Given the description of an element on the screen output the (x, y) to click on. 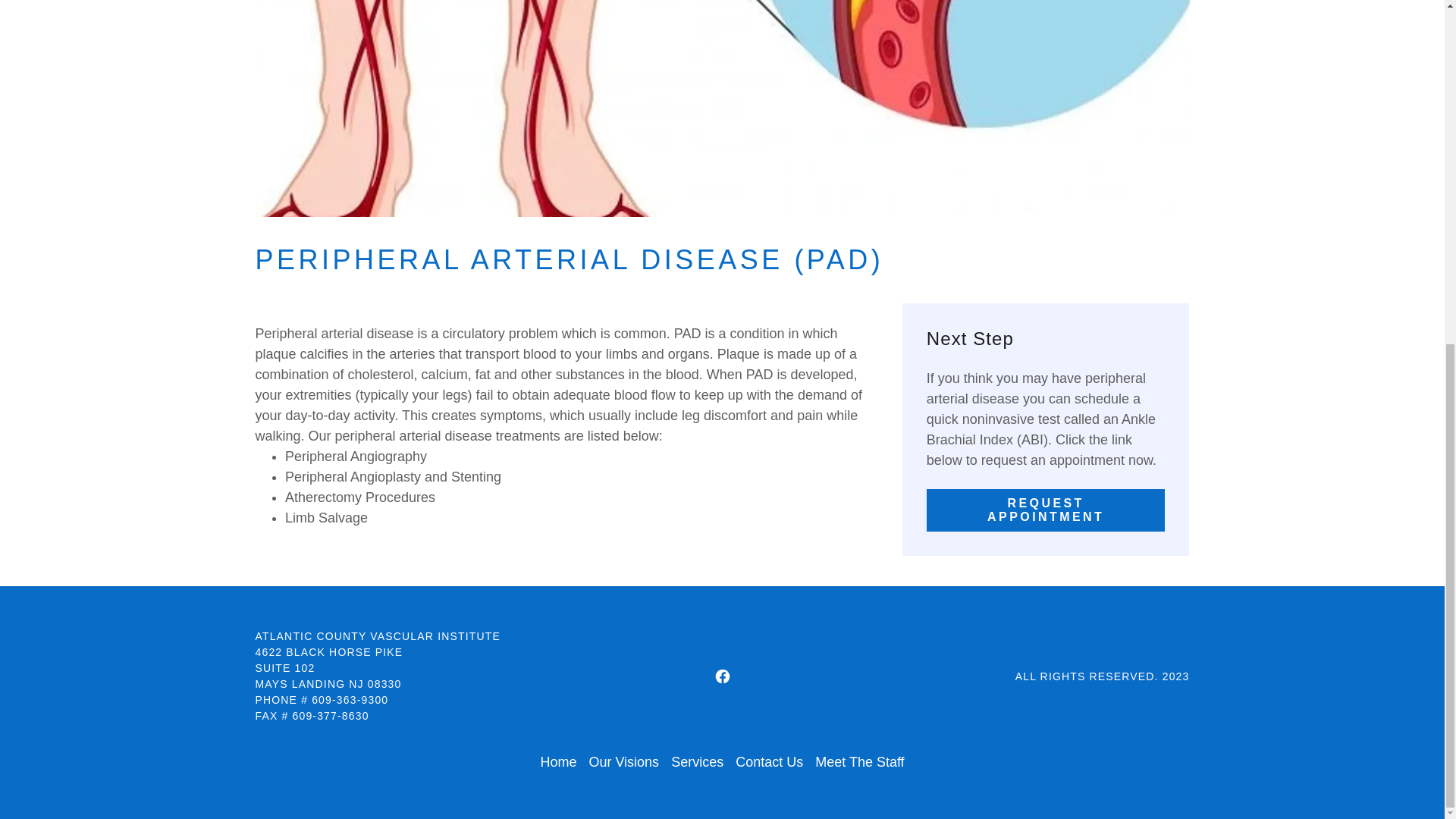
Contact Us (769, 762)
Services (697, 762)
Our Visions (623, 762)
REQUEST APPOINTMENT (1046, 509)
Home (558, 762)
Meet The Staff (859, 762)
